Given the description of an element on the screen output the (x, y) to click on. 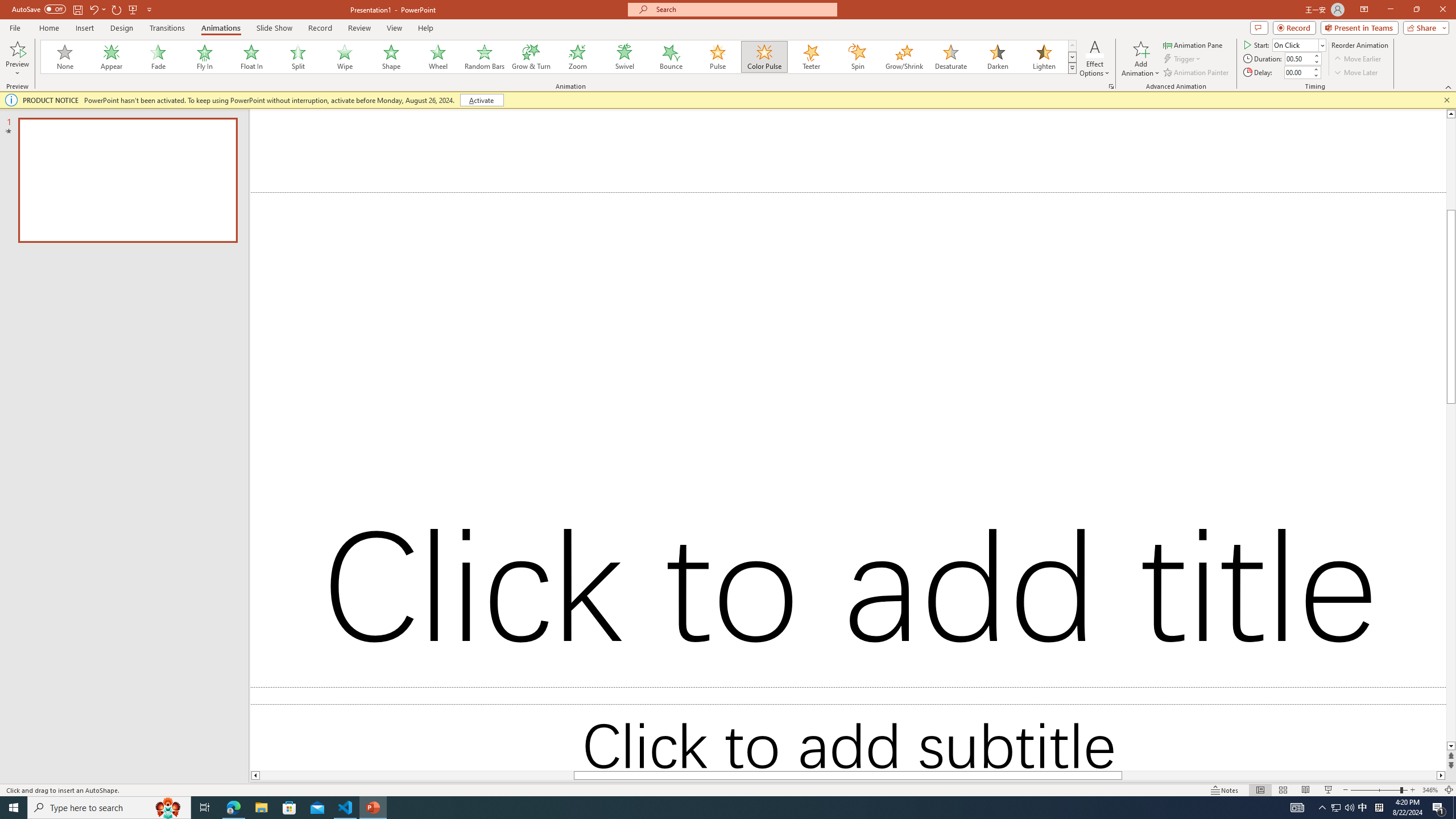
Bounce (670, 56)
Animation Painter (1196, 72)
Pulse (717, 56)
Color Pulse (764, 56)
Random Bars (484, 56)
Teeter (810, 56)
Fade (158, 56)
